Given the description of an element on the screen output the (x, y) to click on. 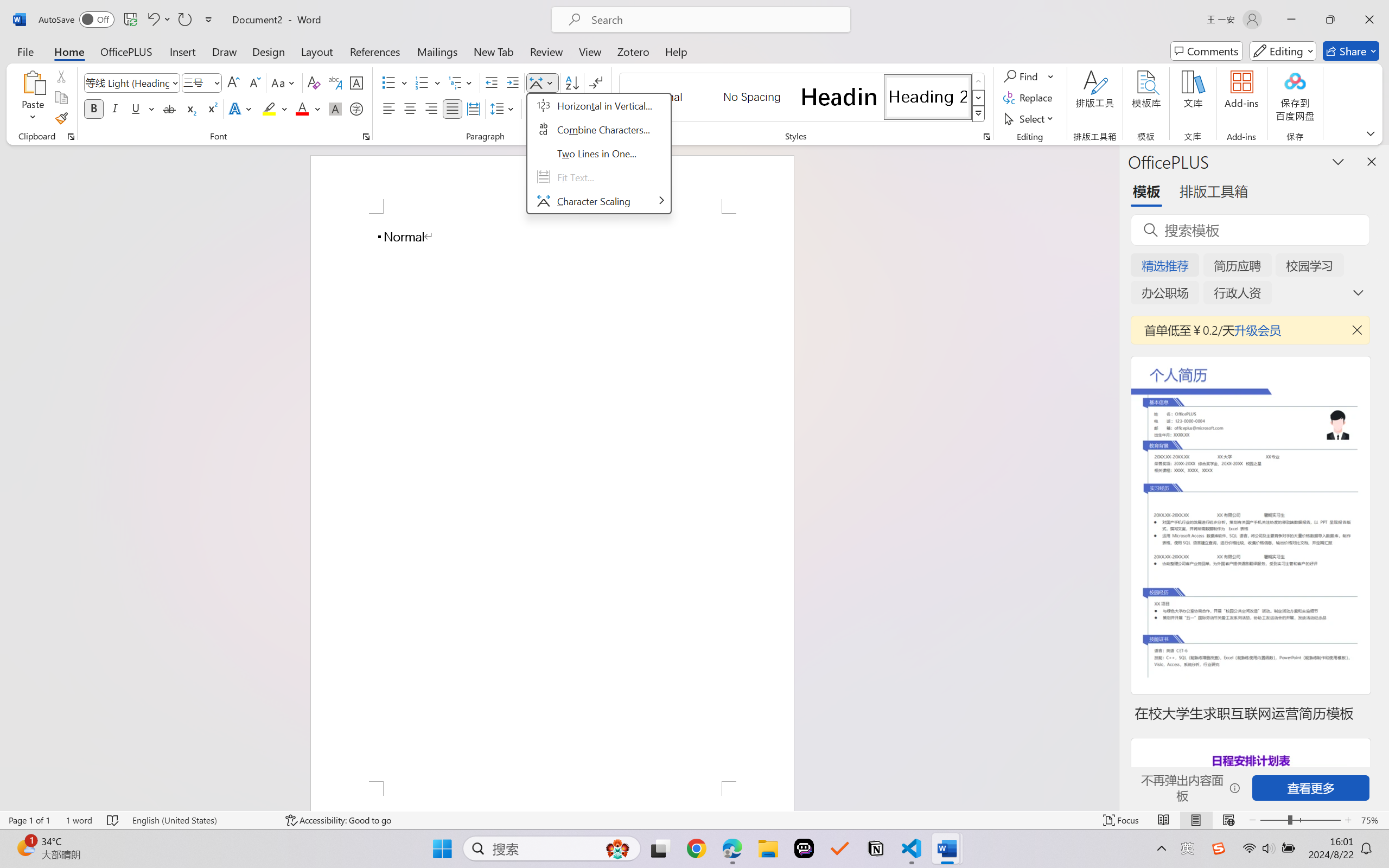
Subscript (190, 108)
Focus  (1121, 819)
Office Clipboard... (70, 136)
Zoom (1300, 819)
Design (268, 51)
Print Layout (1196, 819)
Bullets (388, 82)
Page Number Page 1 of 1 (29, 819)
Word Count 1 word (78, 819)
Language English (United States) (201, 819)
Numbering (421, 82)
